Given the description of an element on the screen output the (x, y) to click on. 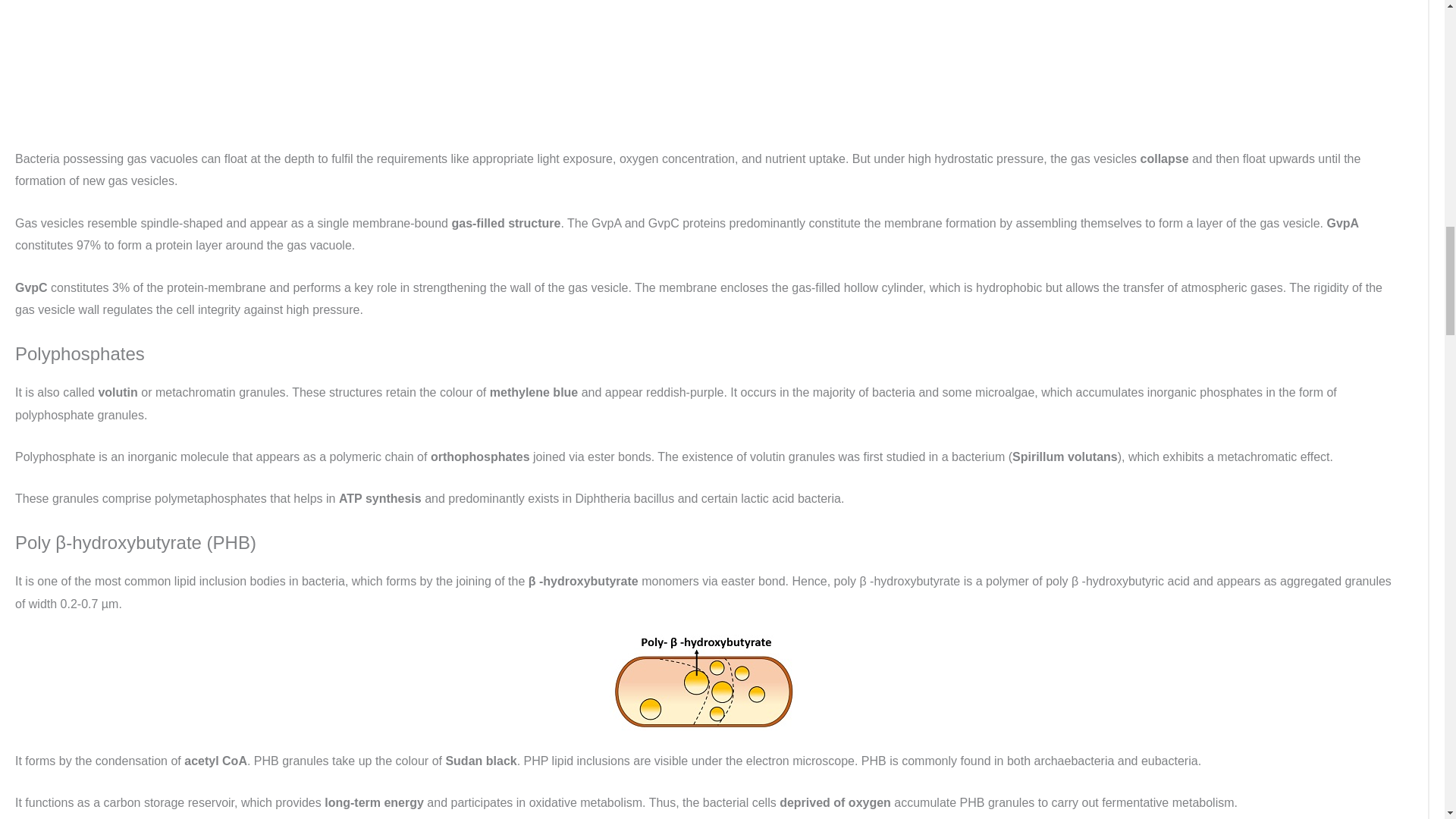
Advertisement (704, 67)
